Given the description of an element on the screen output the (x, y) to click on. 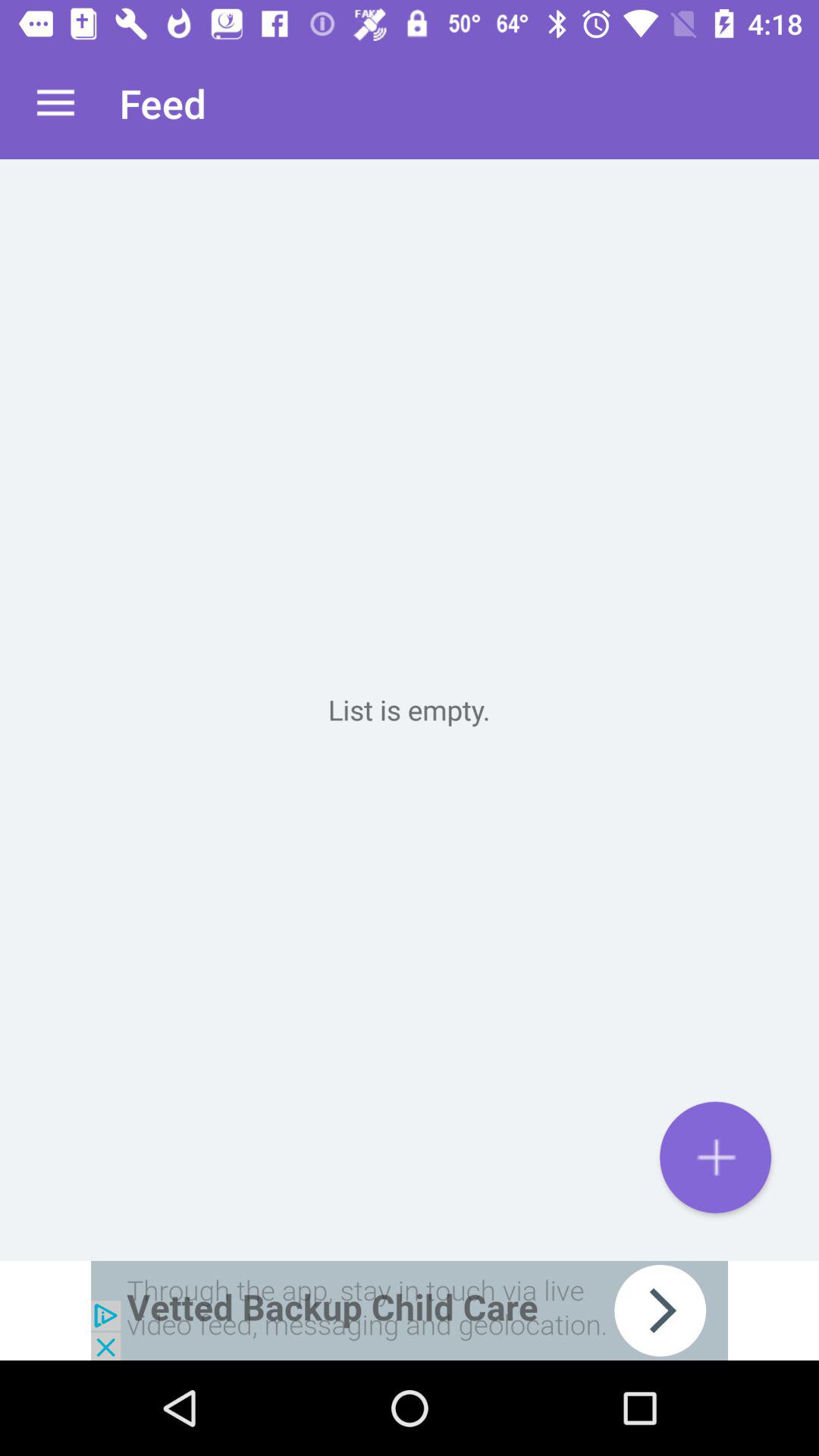
select advertisement (409, 1310)
